Given the description of an element on the screen output the (x, y) to click on. 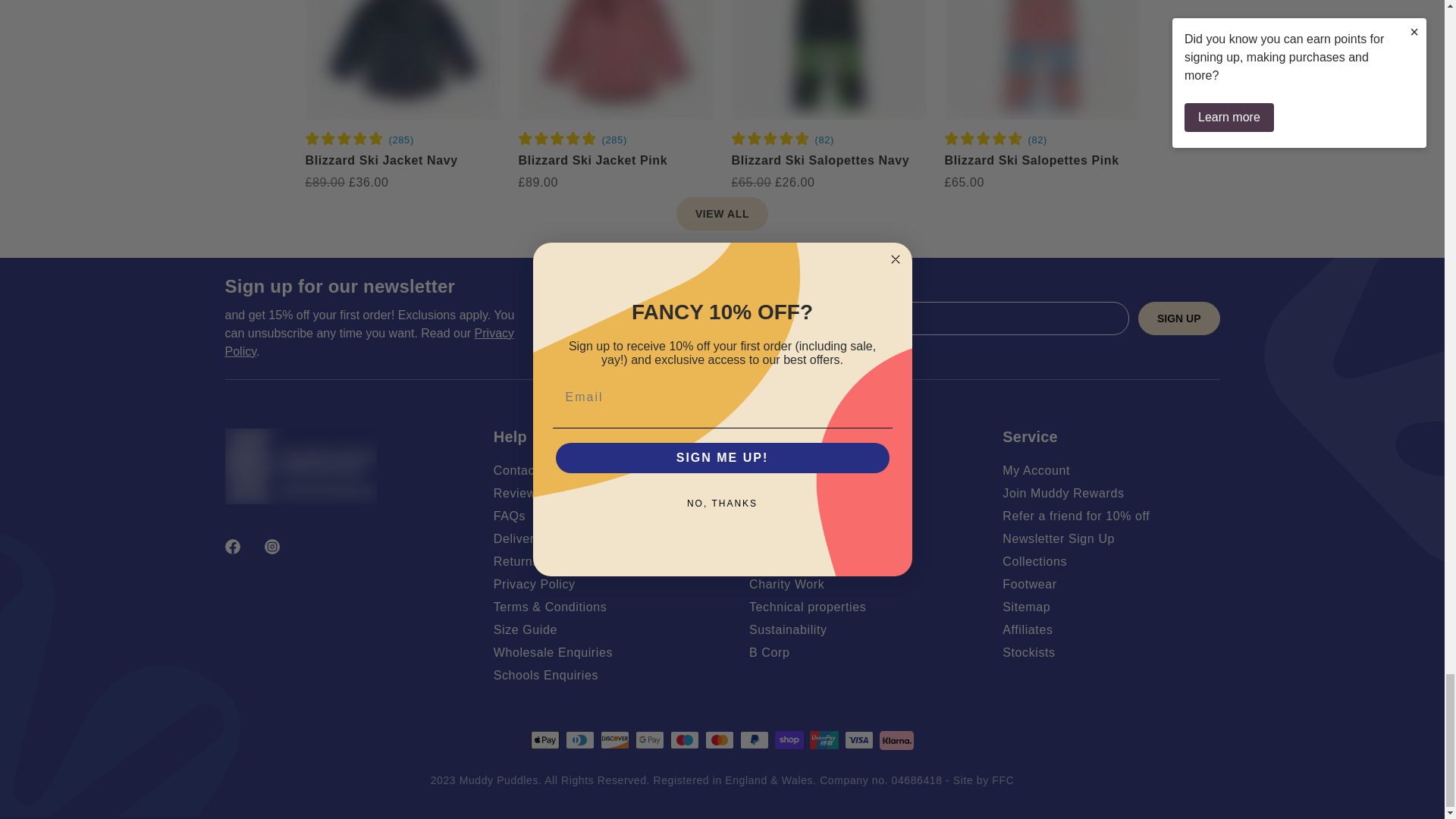
Mastercard (718, 740)
Visa (858, 740)
Shop Pay (788, 740)
Google Pay (648, 740)
Diners Club (580, 740)
PayPal (753, 740)
Union Pay (823, 740)
Discover (613, 740)
Apple Pay (545, 740)
Maestro (683, 740)
Privacy Policy (368, 341)
